Given the description of an element on the screen output the (x, y) to click on. 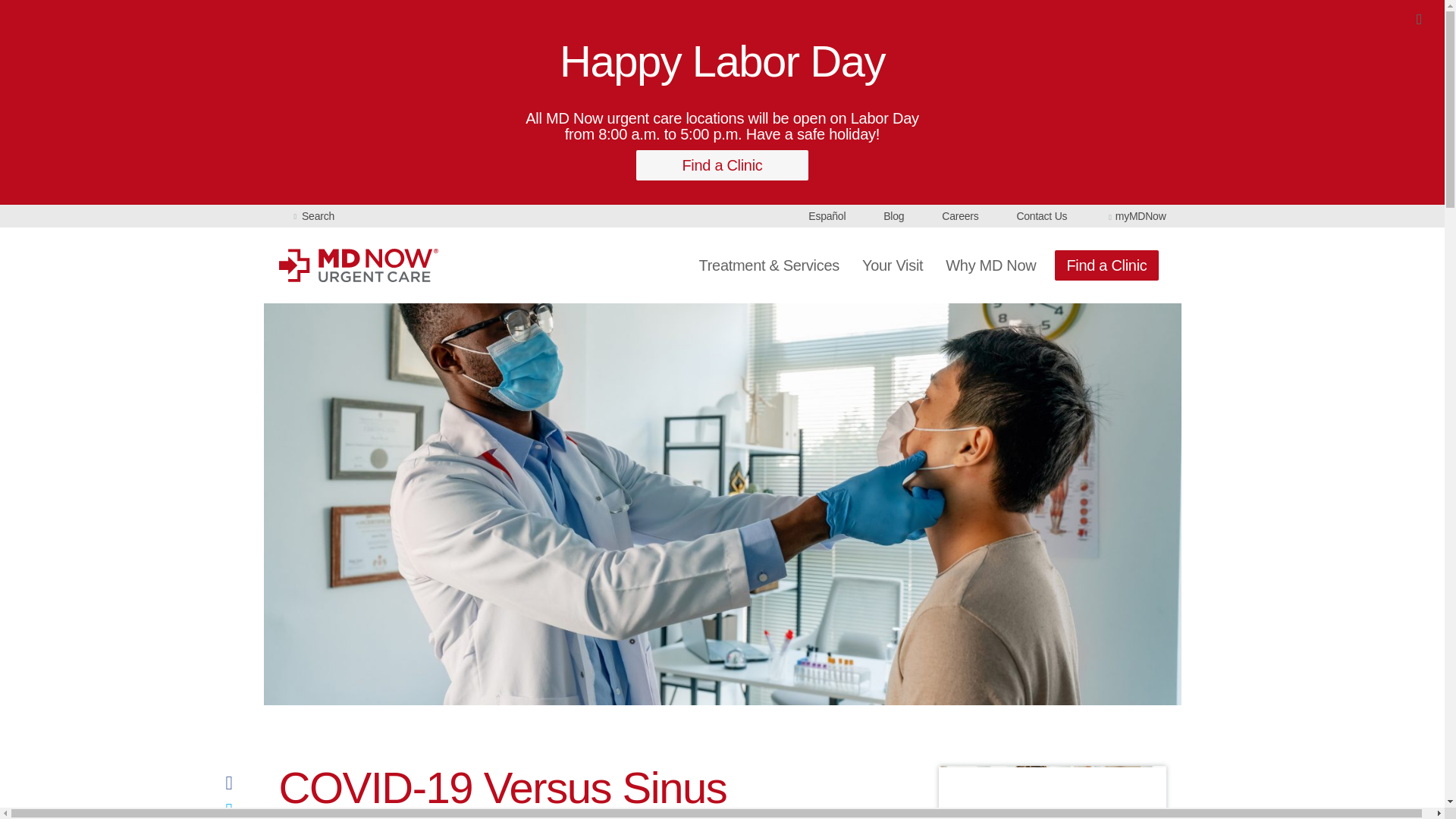
Careers (960, 215)
Contact Us (1041, 215)
Find a Clinic (722, 164)
Blog (893, 215)
myMDNow (1135, 215)
